Given the description of an element on the screen output the (x, y) to click on. 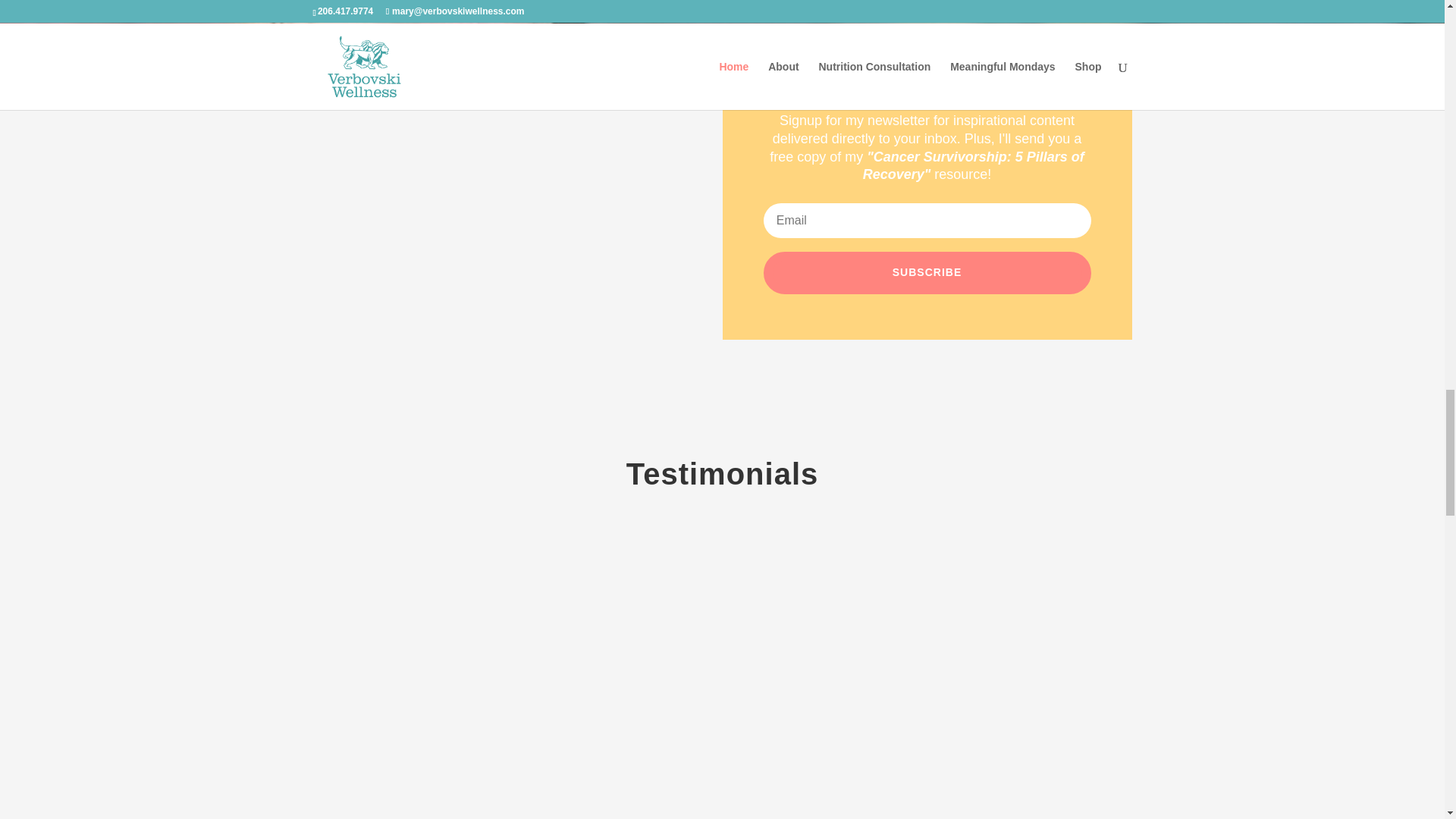
SUBSCRIBE (926, 272)
